Given the description of an element on the screen output the (x, y) to click on. 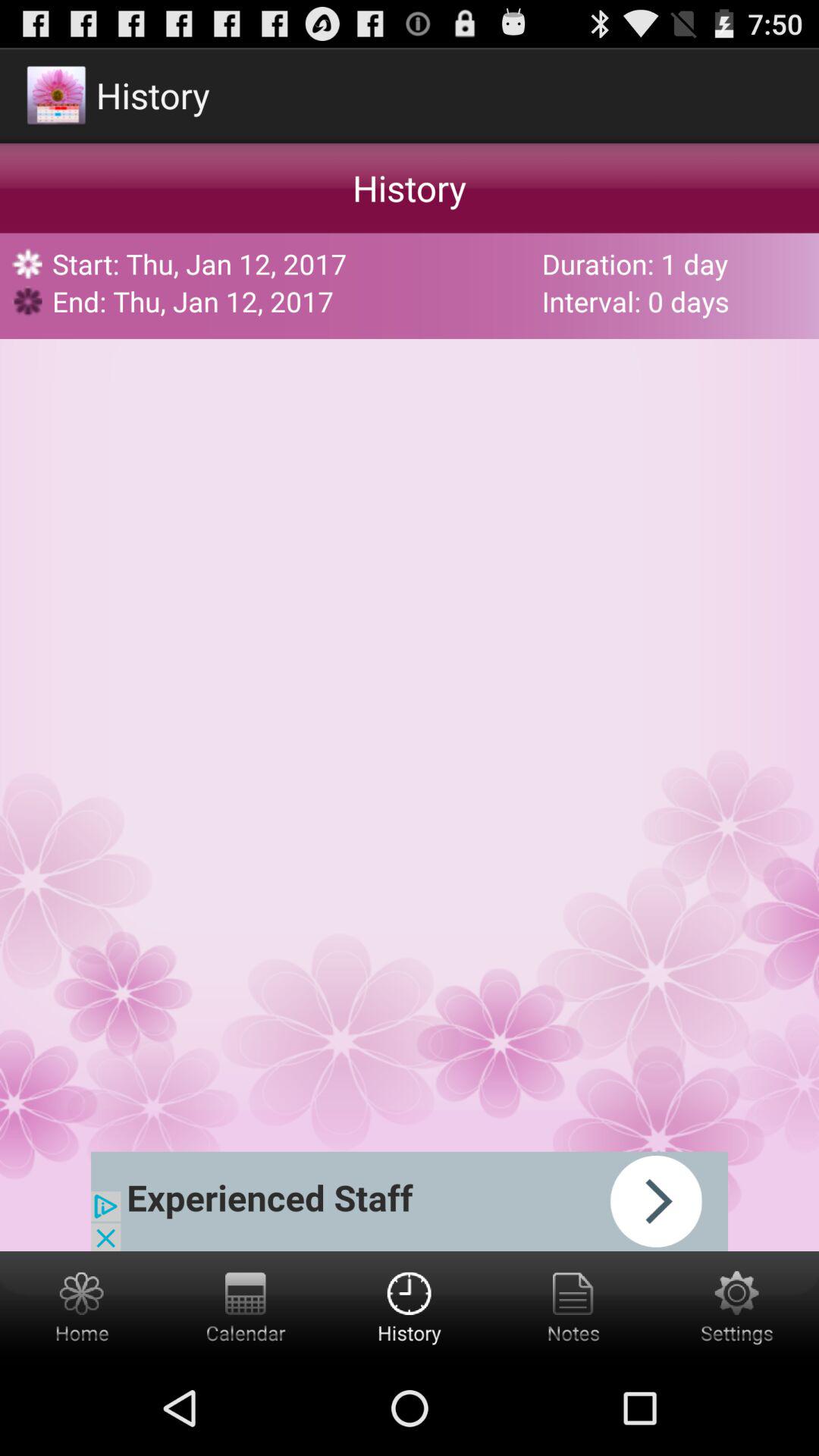
advertisement banner (409, 1201)
